Given the description of an element on the screen output the (x, y) to click on. 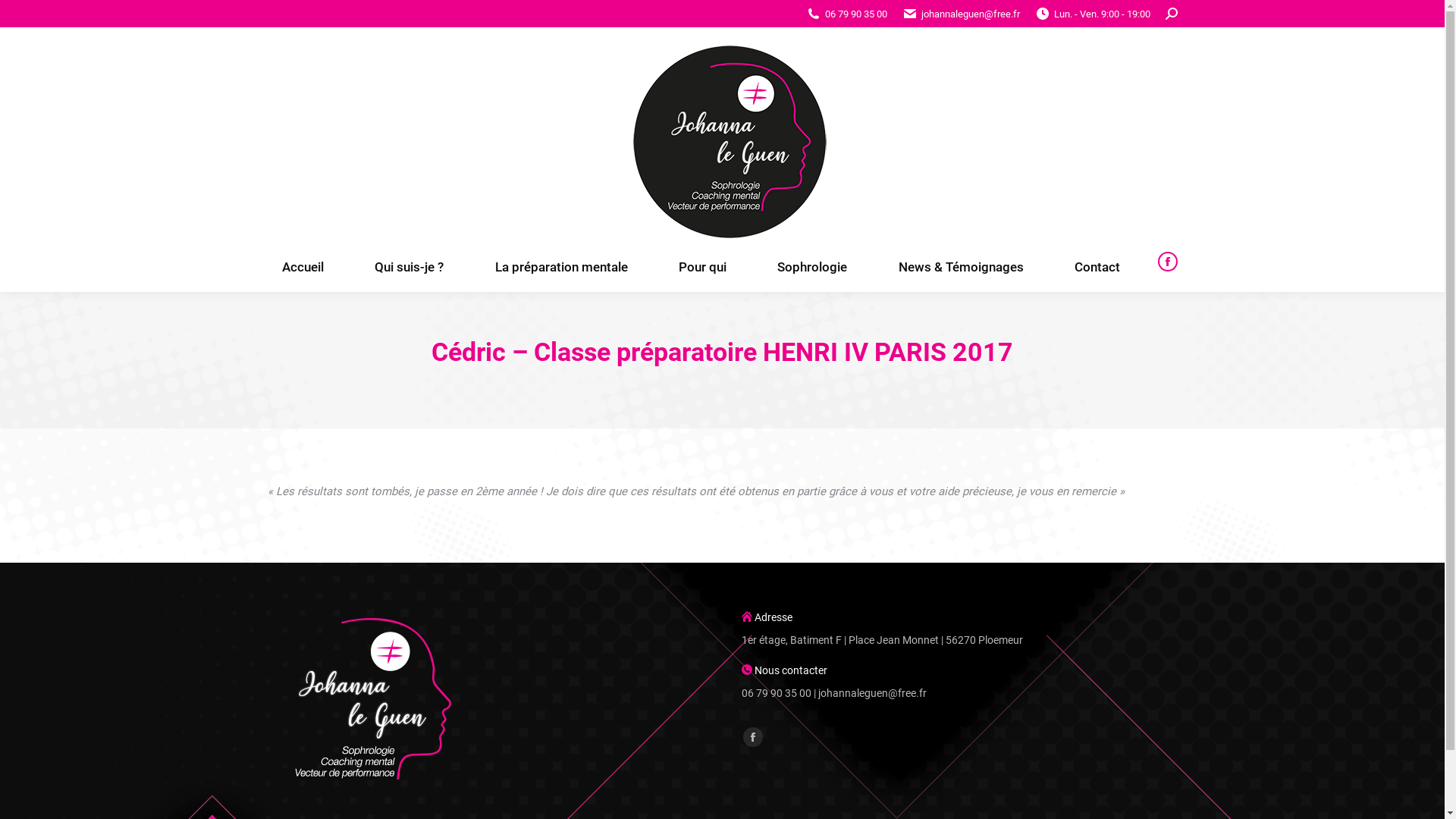
Facebook page opens in new window Element type: text (1166, 261)
Facebook page opens in new window Element type: text (752, 736)
Qui suis-je ? Element type: text (409, 267)
Accueil Element type: text (598, 379)
Accueil Element type: text (302, 267)
Go! Element type: text (23, 16)
Contact Element type: text (1096, 267)
Pour qui Element type: text (701, 267)
Sophrologie Element type: text (812, 267)
